Given the description of an element on the screen output the (x, y) to click on. 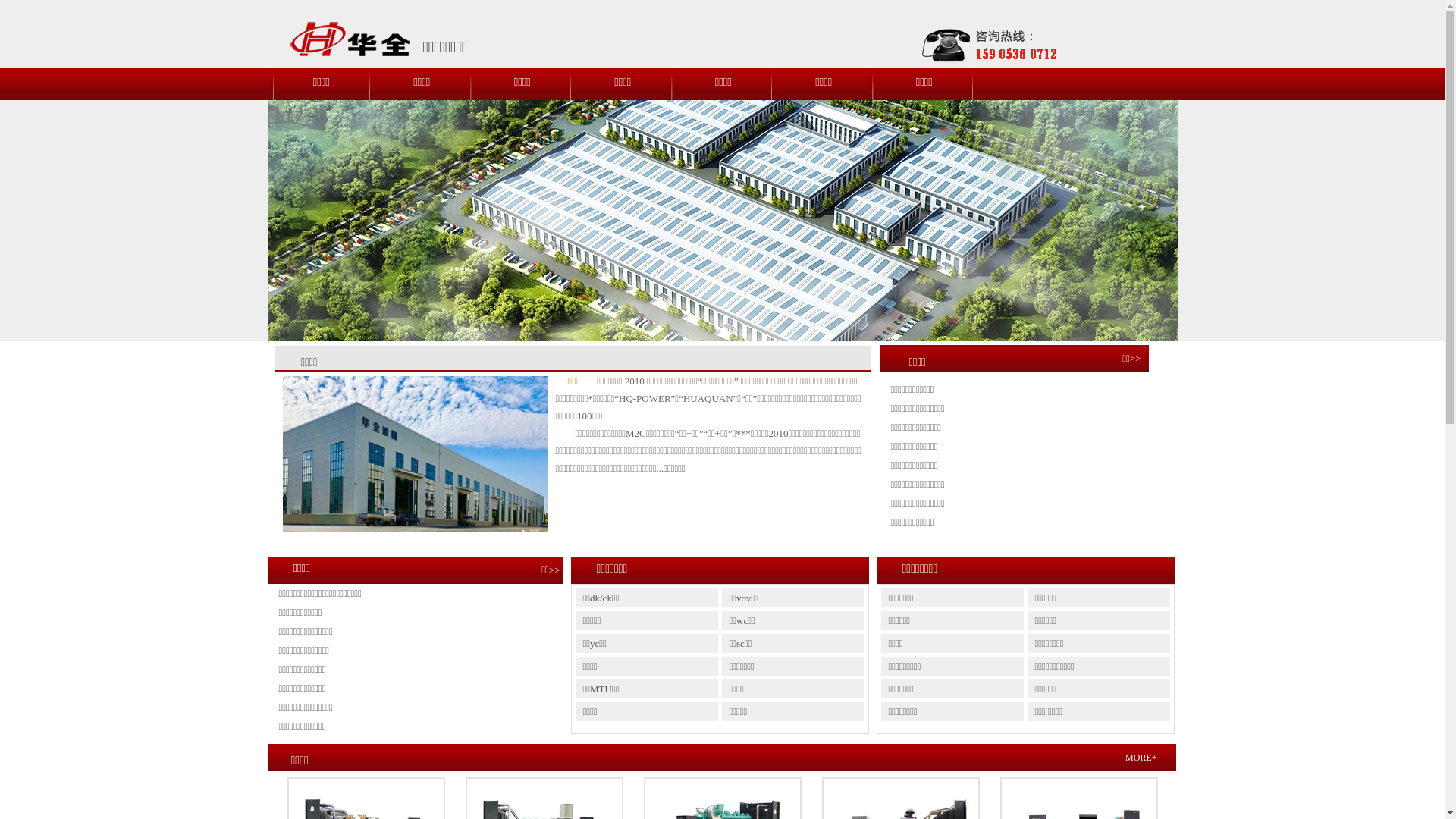
MORE+ Element type: text (1140, 757)
